Given the description of an element on the screen output the (x, y) to click on. 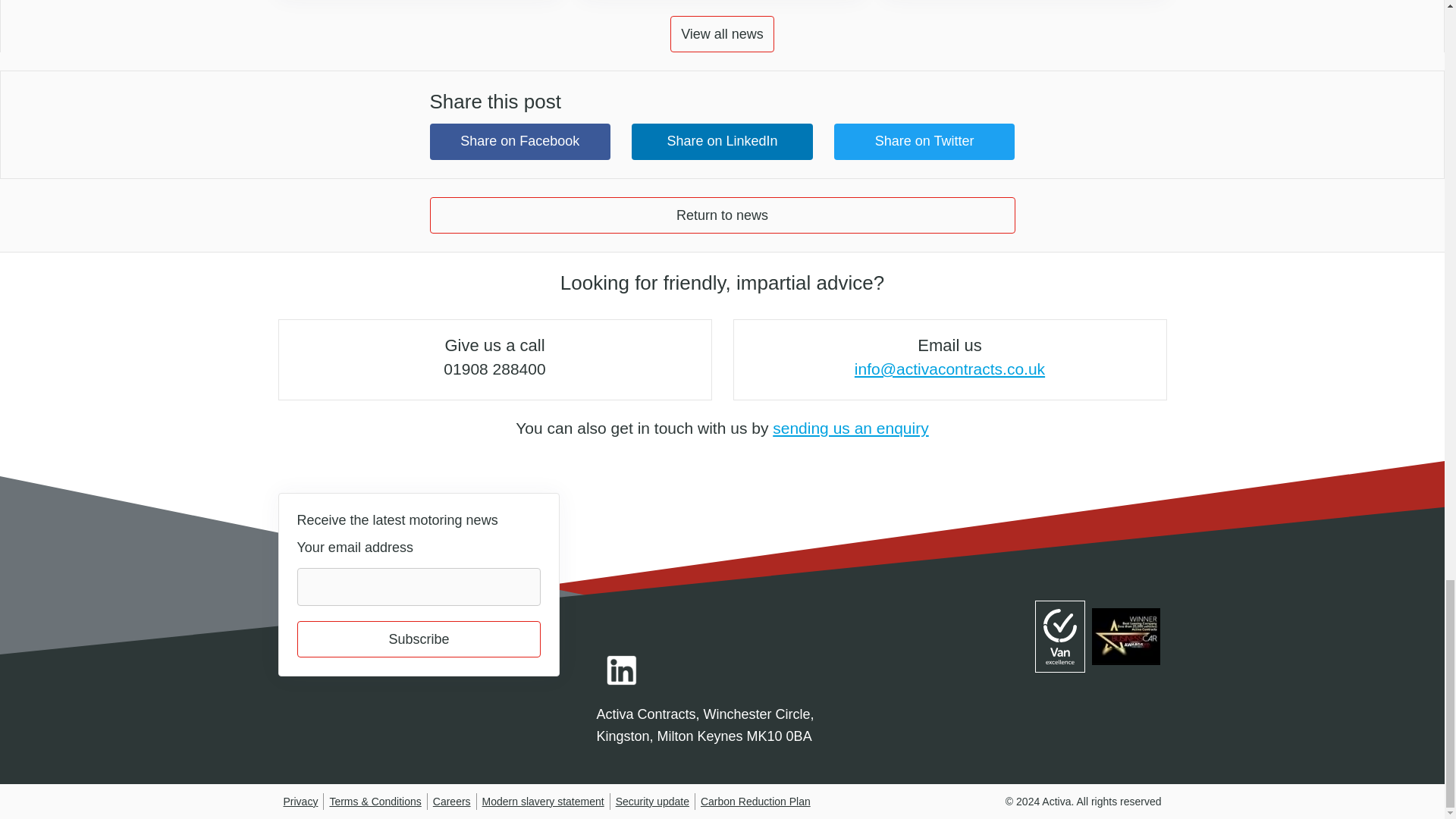
Subscribe (419, 638)
Careers (451, 801)
Share on Twitter (924, 141)
sending us an enquiry (850, 427)
Modern slavery statement (542, 801)
Return to news (721, 215)
Privacy (300, 801)
View all news (721, 33)
01908 288400 (494, 368)
Share on LinkedIn (721, 141)
